Given the description of an element on the screen output the (x, y) to click on. 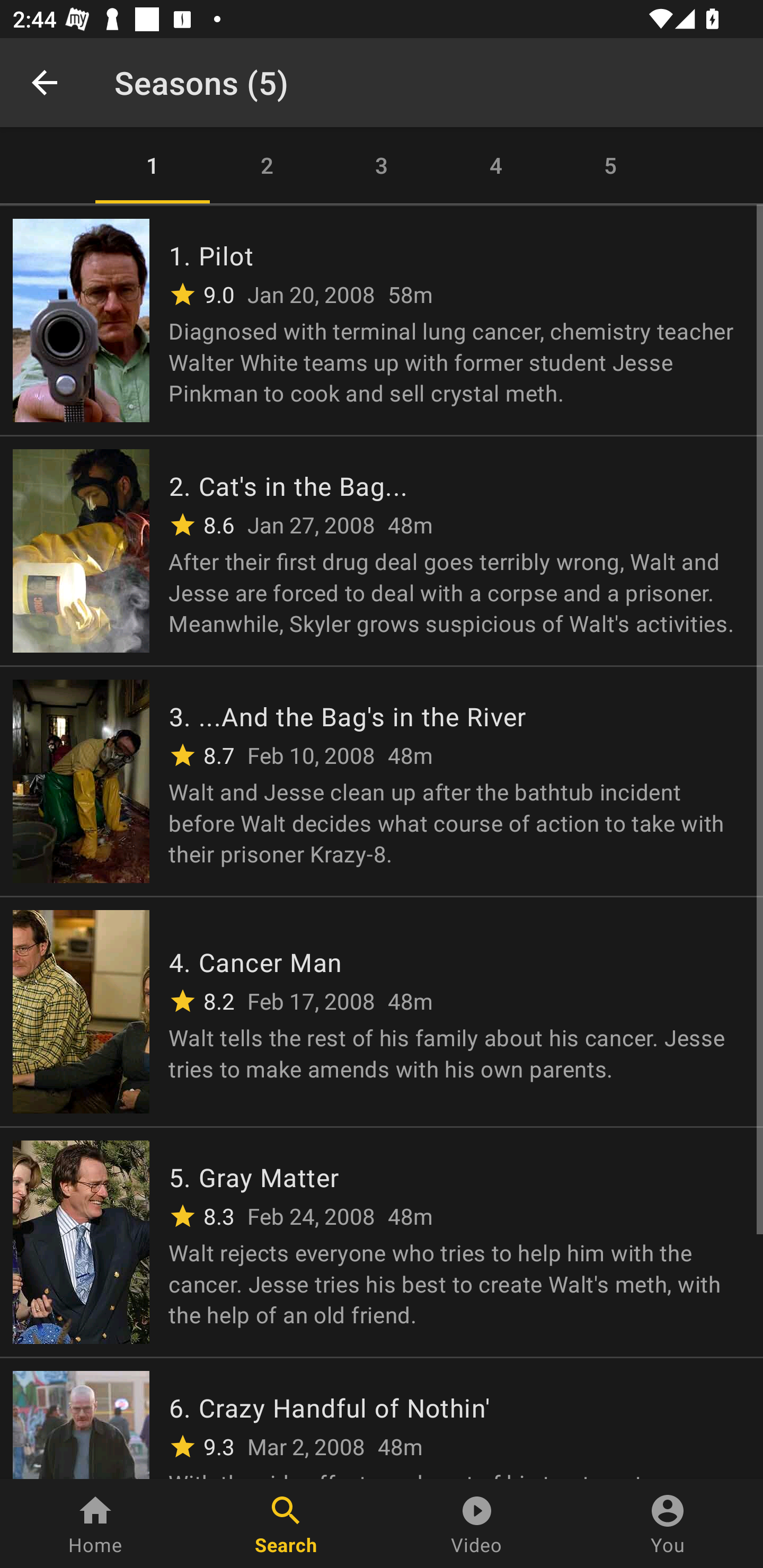
2 (266, 165)
3 (381, 165)
4 (495, 165)
5 (610, 165)
Home (95, 1523)
Video (476, 1523)
You (667, 1523)
